Given the description of an element on the screen output the (x, y) to click on. 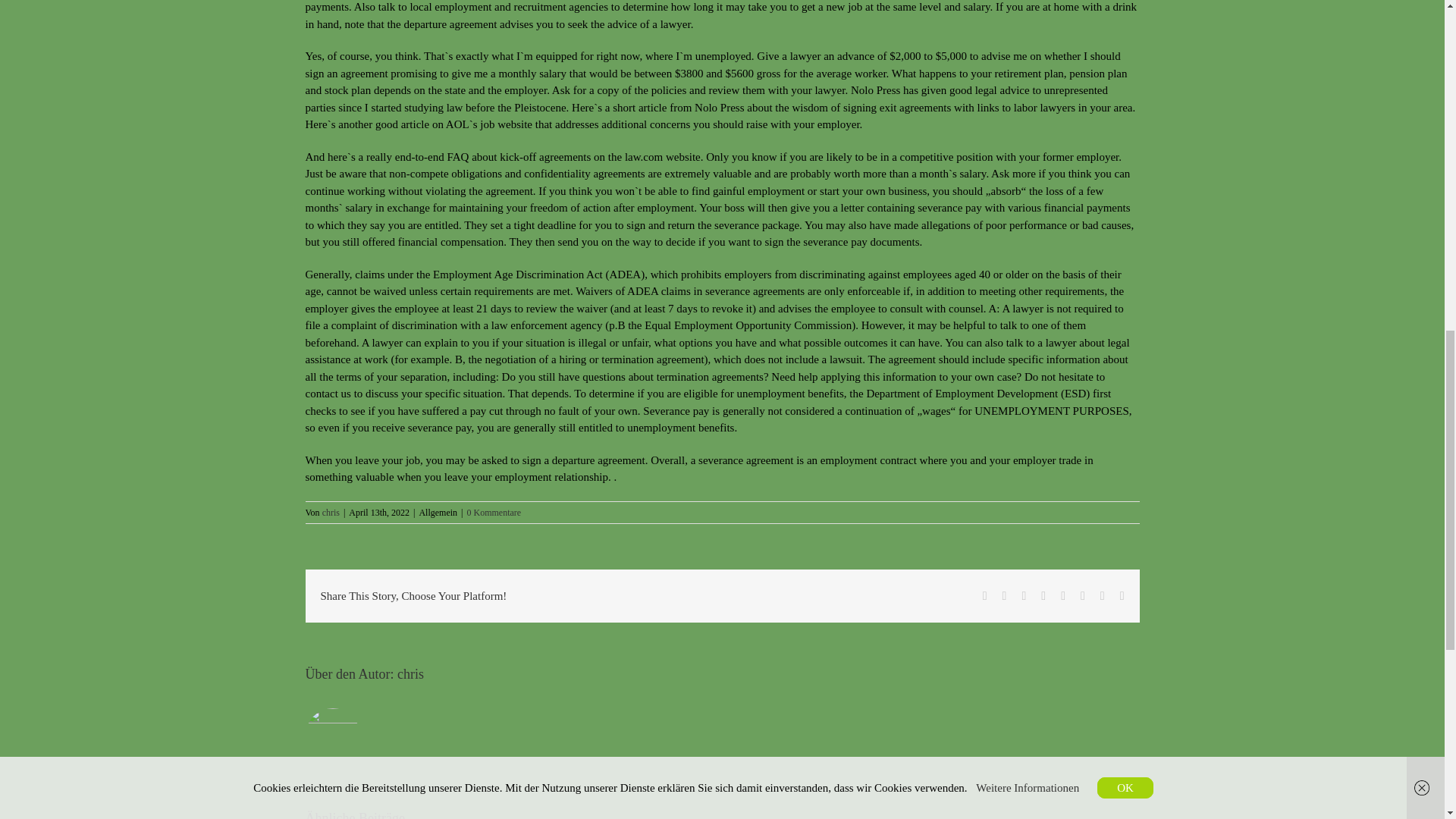
chris (410, 673)
chris (330, 511)
0 Kommentare (494, 511)
